Given the description of an element on the screen output the (x, y) to click on. 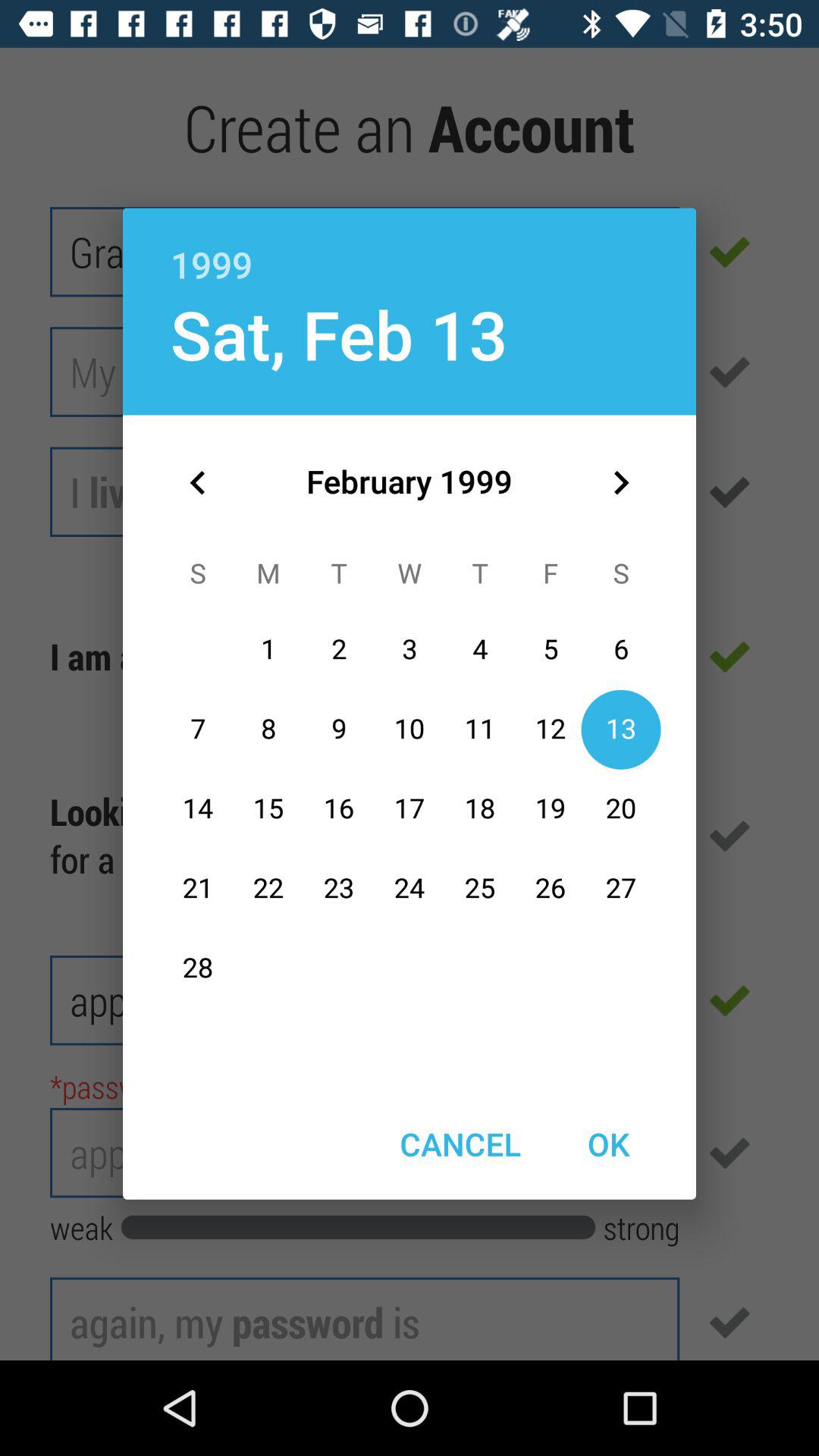
scroll until the sat, feb 13 icon (338, 333)
